Given the description of an element on the screen output the (x, y) to click on. 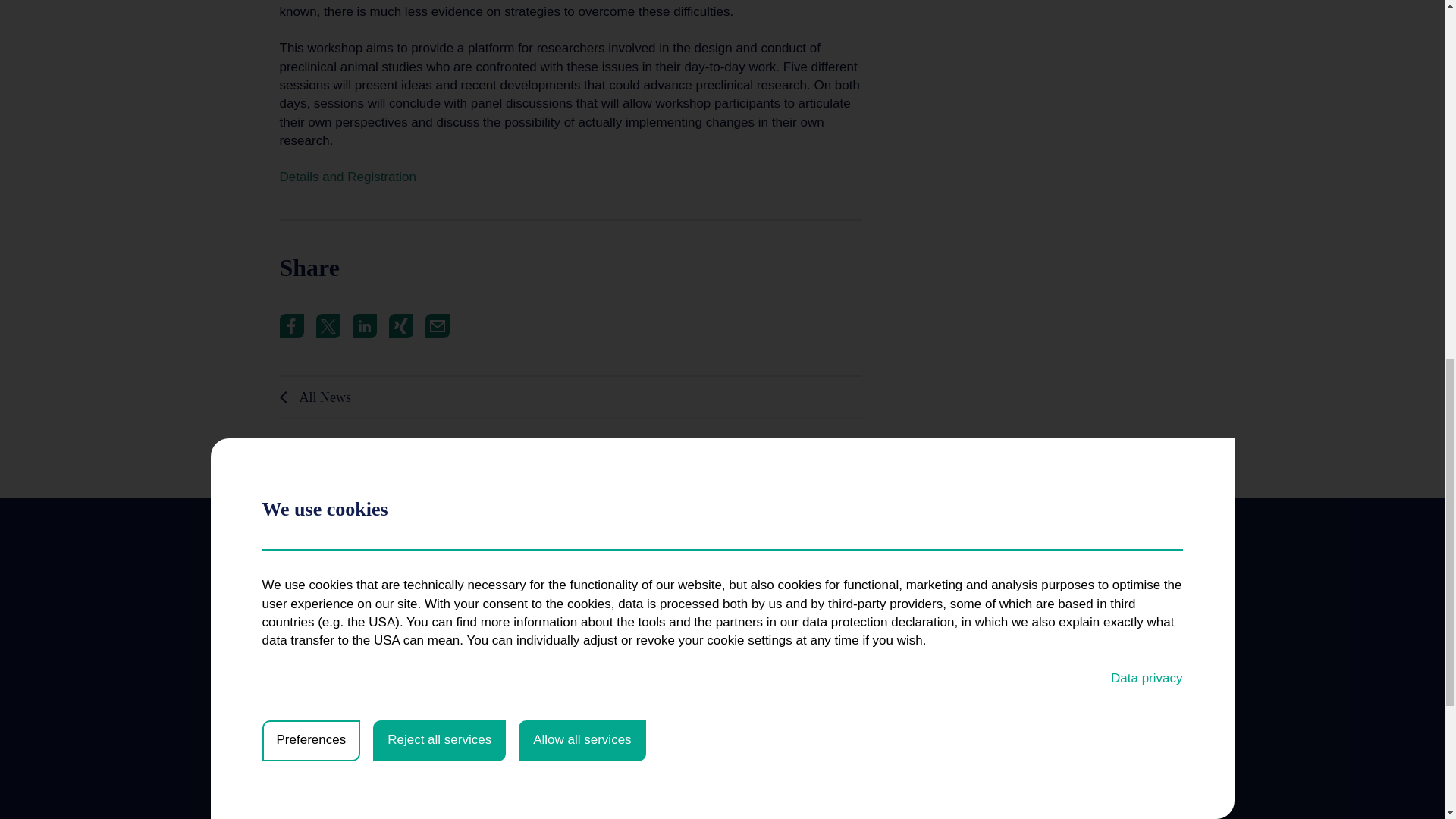
News (292, 696)
Staff Members (313, 720)
Open Positions (314, 745)
Medical University of Vienna (404, 545)
Medical University of Vienna (404, 546)
Opens external link in new window (346, 176)
Institute of Artificial Intelligence (529, 671)
The Center (305, 671)
